Given the description of an element on the screen output the (x, y) to click on. 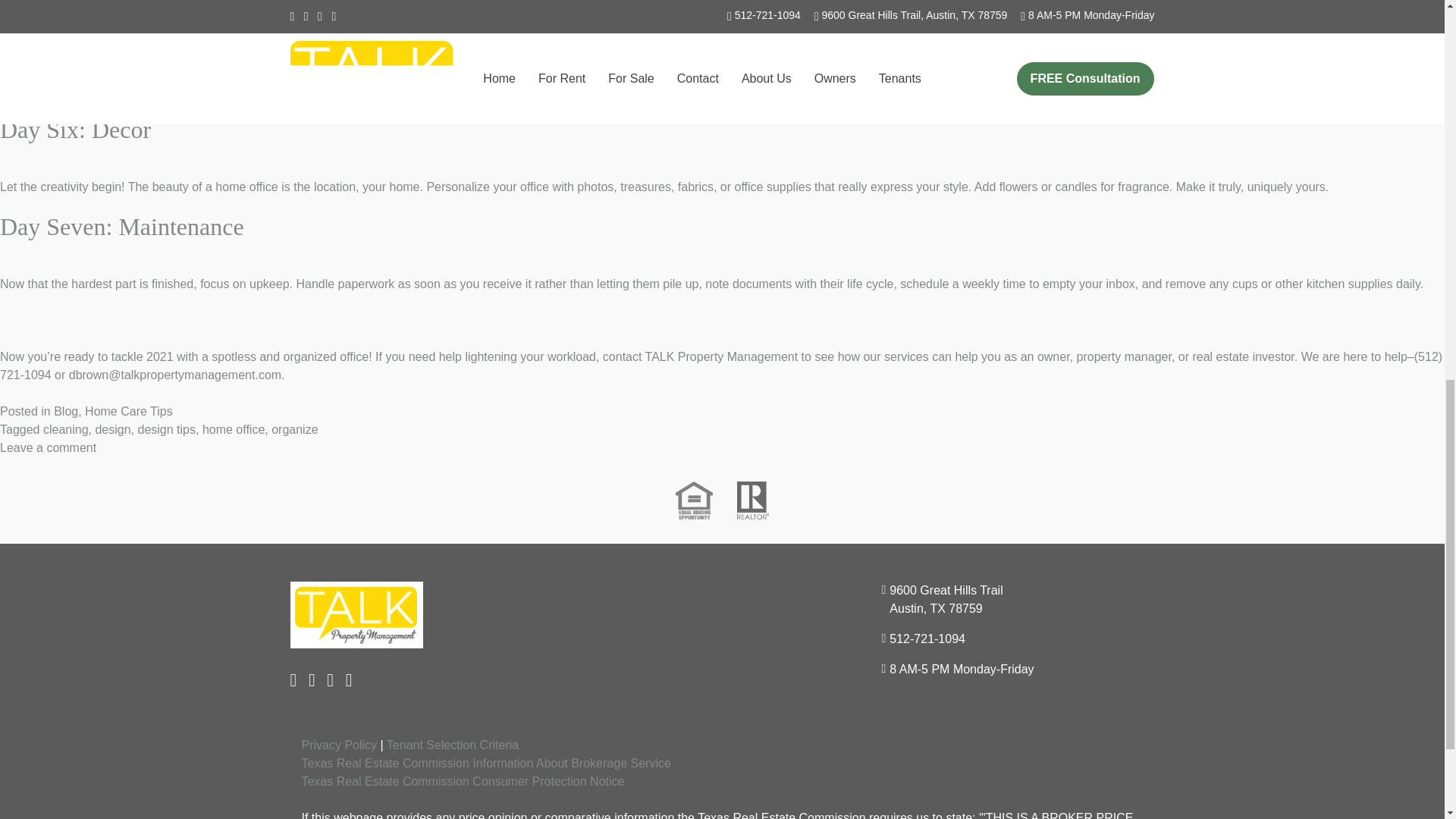
home office (233, 429)
organize (293, 429)
our services (895, 356)
Privacy Policy (339, 744)
cleaning (65, 429)
Blog (65, 410)
Leave a comment (48, 447)
design (112, 429)
design tips (165, 429)
Home Care Tips (128, 410)
